Given the description of an element on the screen output the (x, y) to click on. 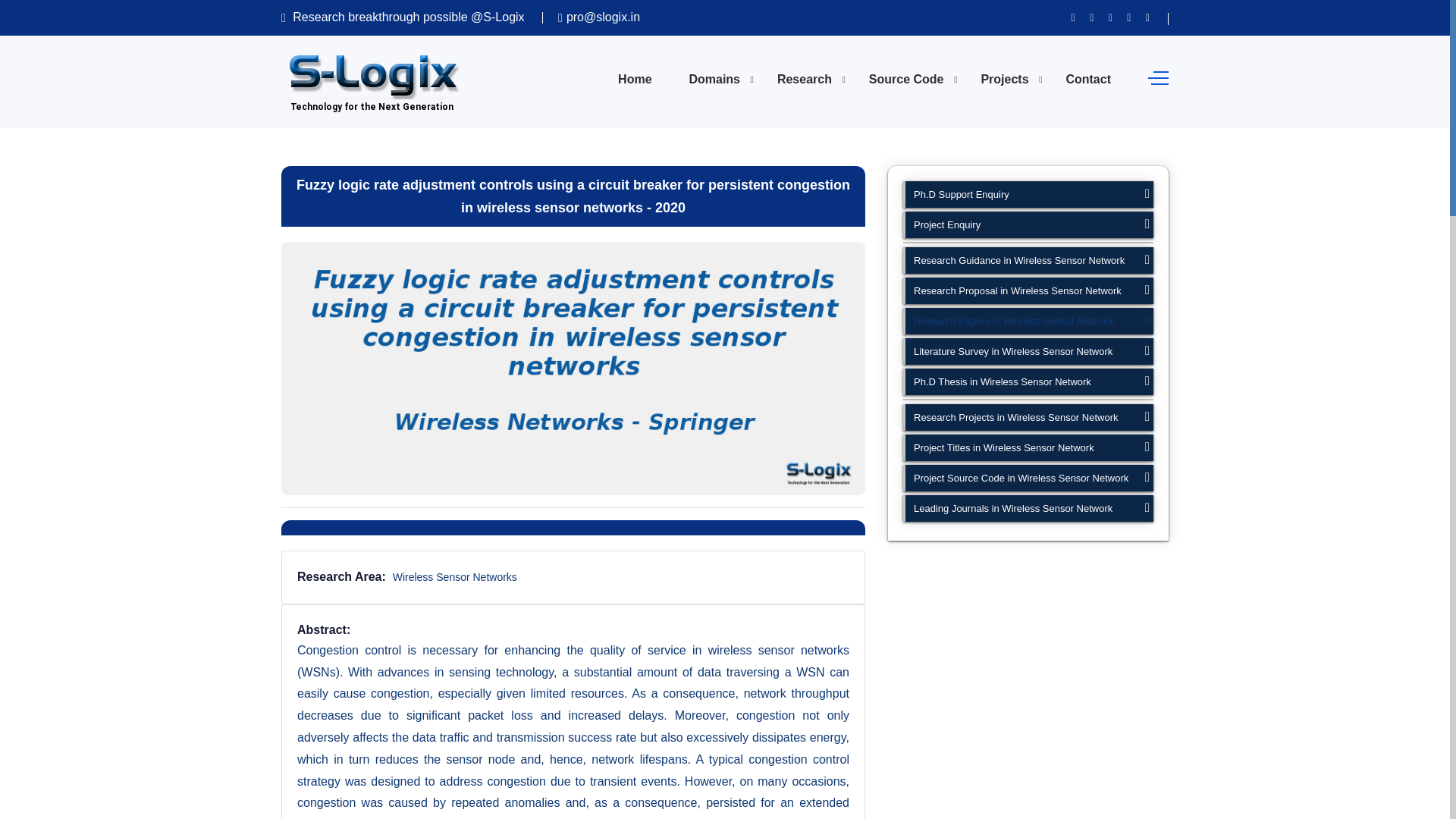
Home (633, 79)
Domains (713, 79)
